Given the description of an element on the screen output the (x, y) to click on. 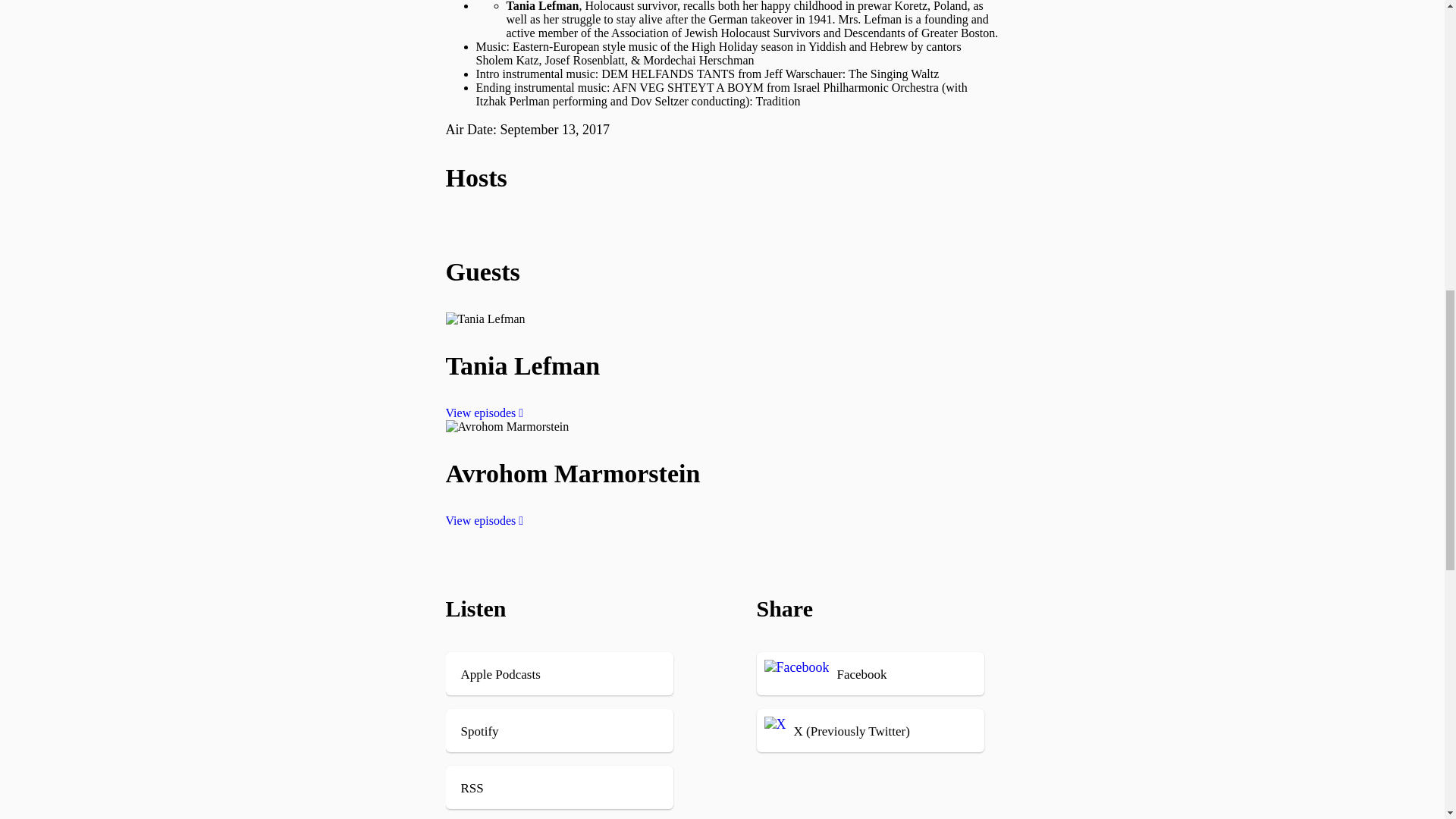
RSS (582, 787)
Spotify (582, 730)
Apple Podcasts (582, 673)
Facebook (877, 673)
View episodes (484, 412)
View episodes (484, 520)
